Given the description of an element on the screen output the (x, y) to click on. 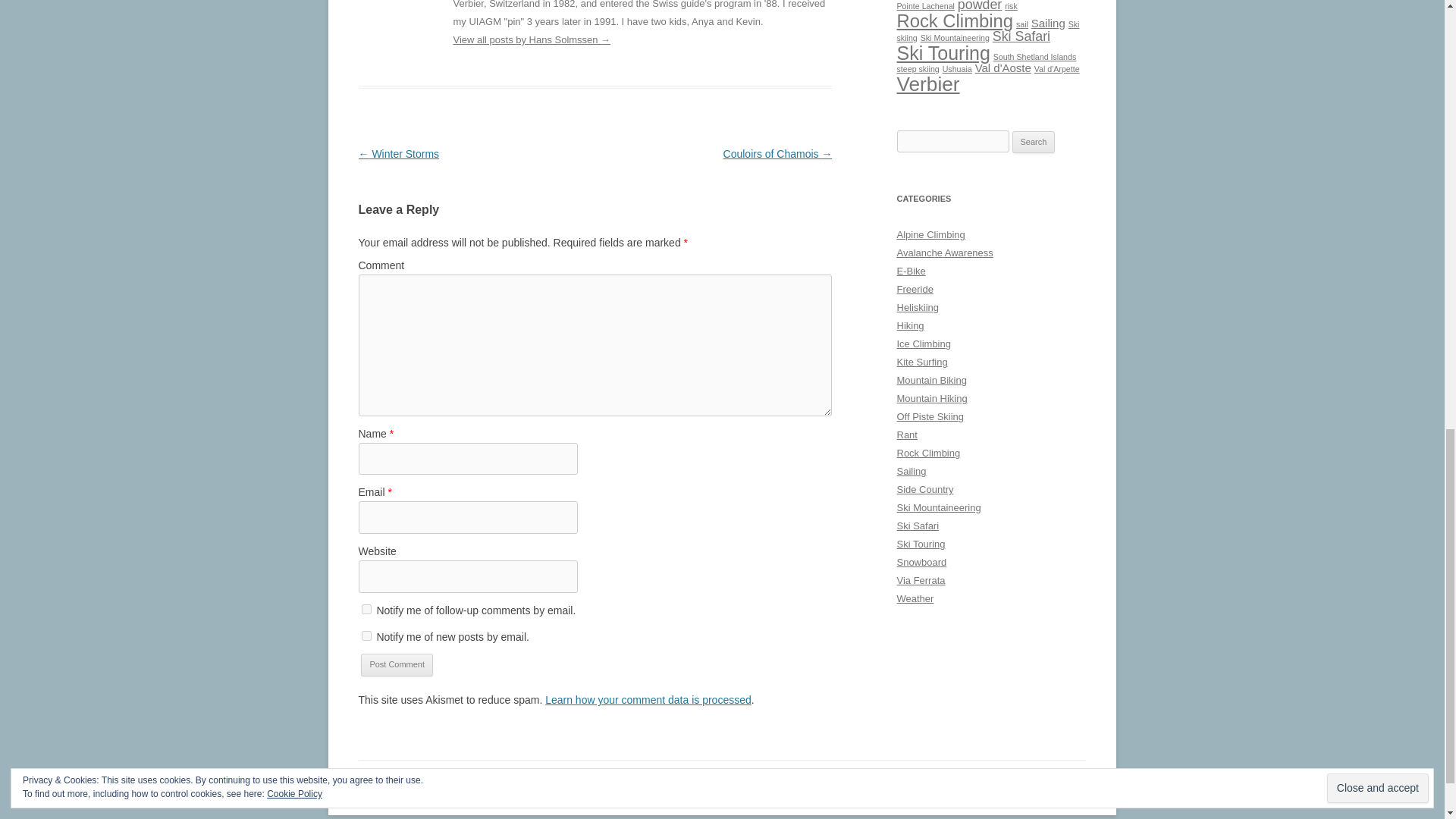
Learn how your comment data is processed (647, 699)
Post Comment (396, 664)
Post Comment (396, 664)
Search (1033, 142)
subscribe (366, 609)
Semantic Personal Publishing Platform (422, 787)
subscribe (366, 635)
